Given the description of an element on the screen output the (x, y) to click on. 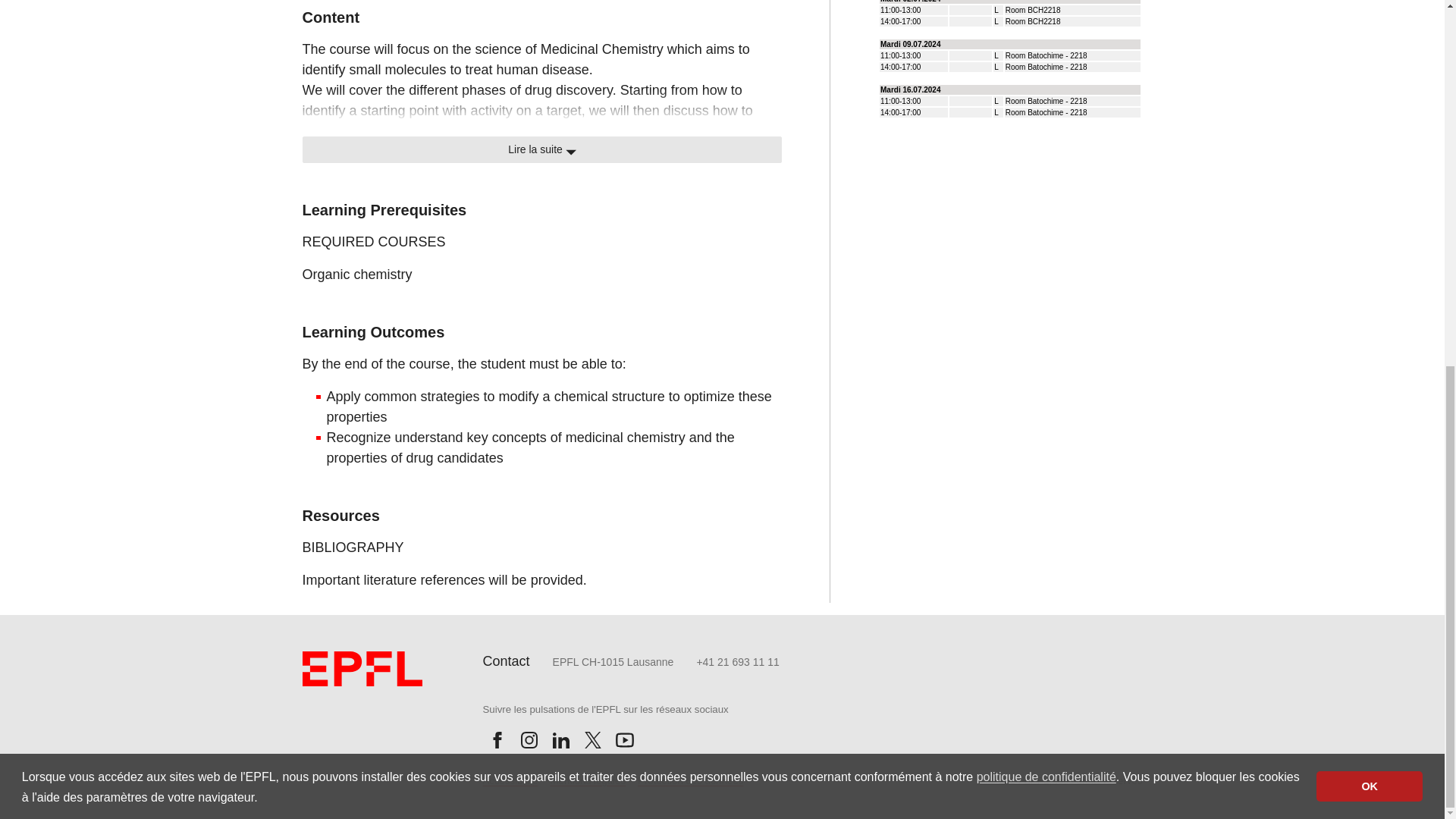
Suivez-nous sur Instagram. (528, 739)
Lire la suite (541, 149)
Suivez-nous sur Youtube. (624, 739)
OK (1369, 127)
Suivez-nous sur X. (592, 739)
Suivez-nous sur LinkedIn. (560, 739)
Suivez-nous sur Facebook. (496, 739)
